Given the description of an element on the screen output the (x, y) to click on. 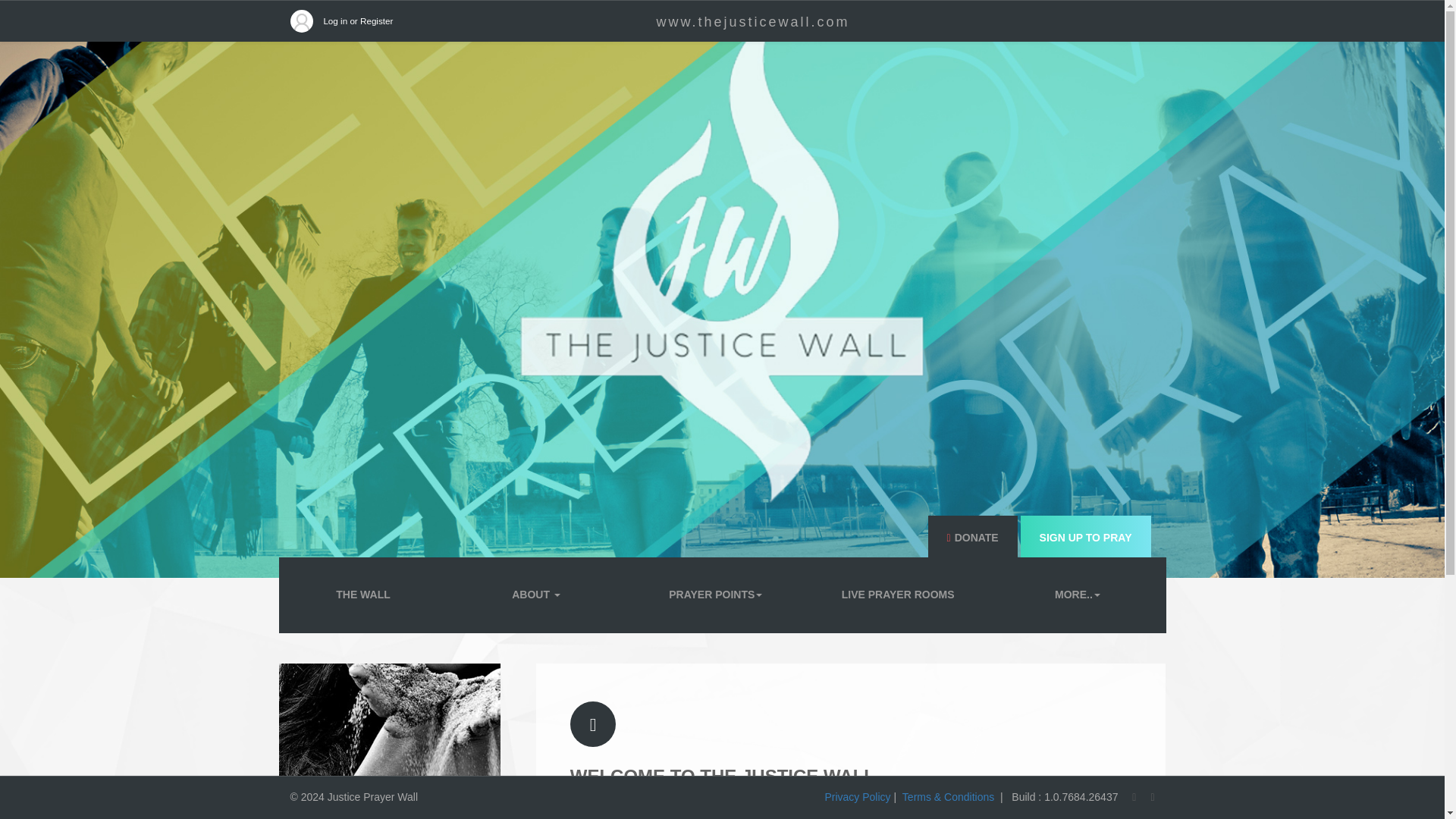
SIGN UP TO PRAY (1086, 538)
www.thejusticewall.com (752, 21)
Log in or Register (358, 20)
DONATE (972, 538)
THE WALL (363, 595)
ABOUT (536, 595)
